Given the description of an element on the screen output the (x, y) to click on. 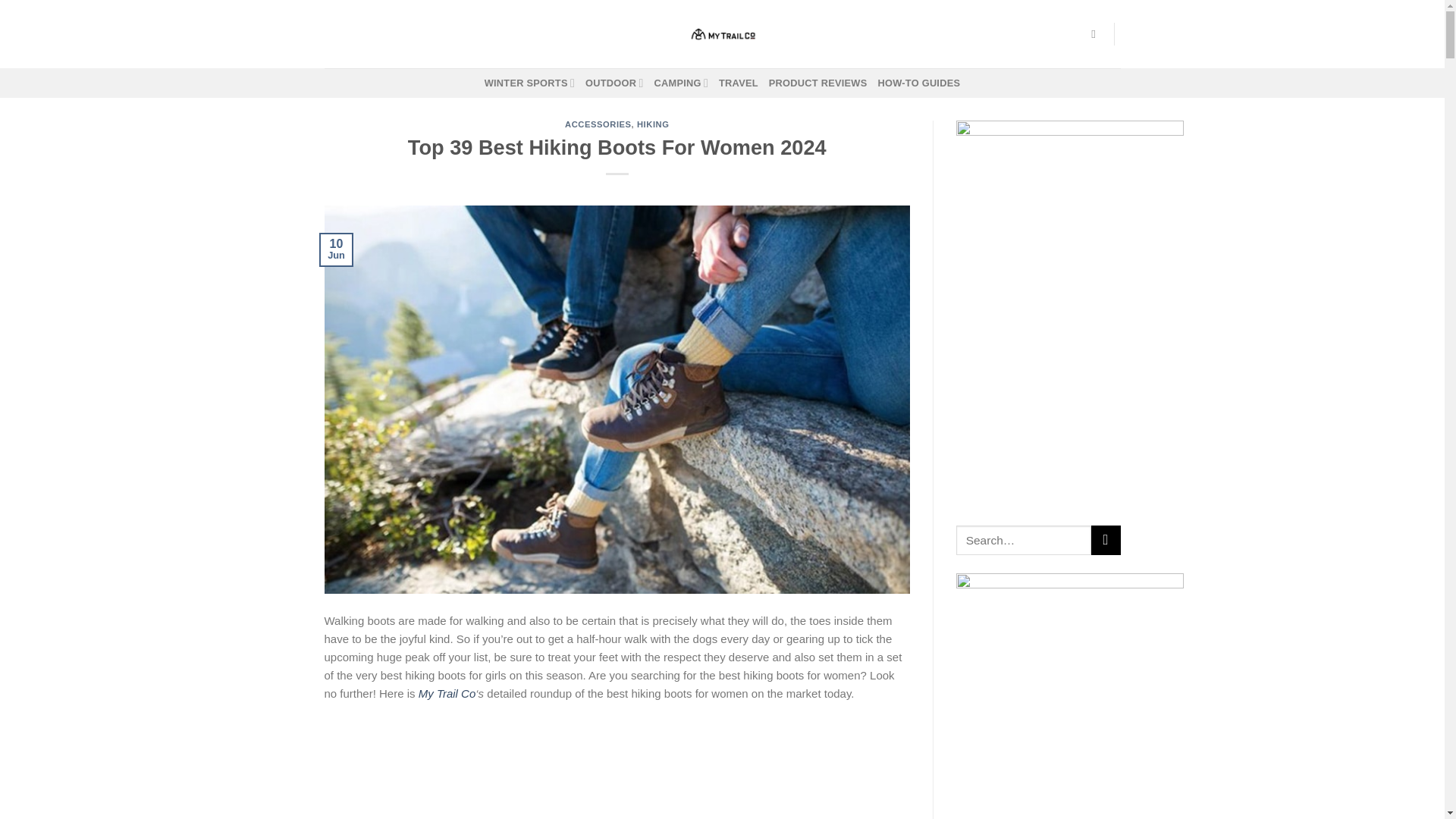
ACCESSORIES (597, 123)
WINTER SPORTS (529, 82)
TRAVEL (738, 83)
HIKING (653, 123)
HOW-TO GUIDES (918, 83)
PRODUCT REVIEWS (817, 83)
CAMPING (680, 82)
My Trail Co (447, 693)
